Given the description of an element on the screen output the (x, y) to click on. 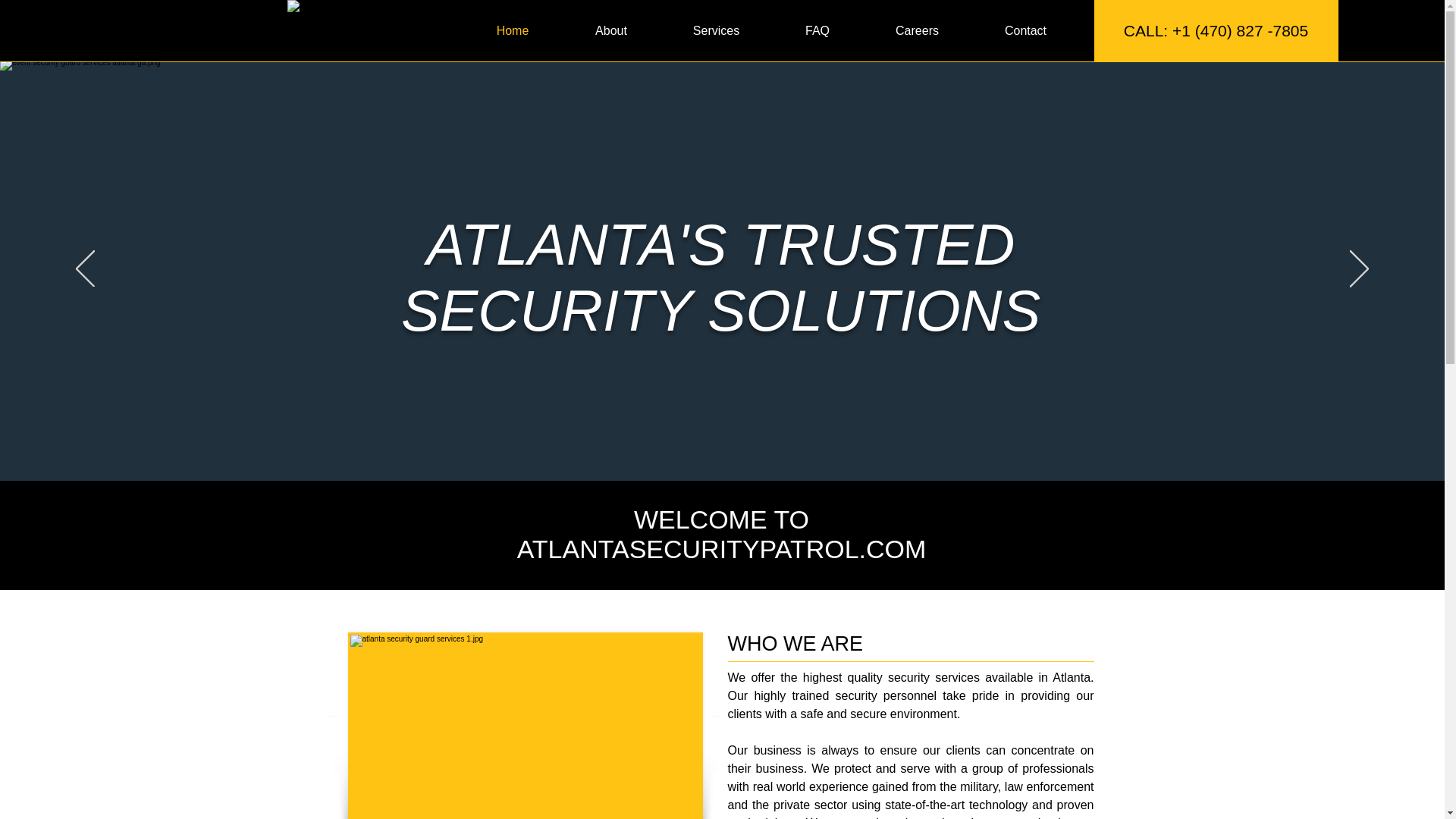
Home (512, 30)
FAQ (816, 30)
Services (715, 30)
Contact (1026, 30)
About (611, 30)
Careers (917, 30)
